Given the description of an element on the screen output the (x, y) to click on. 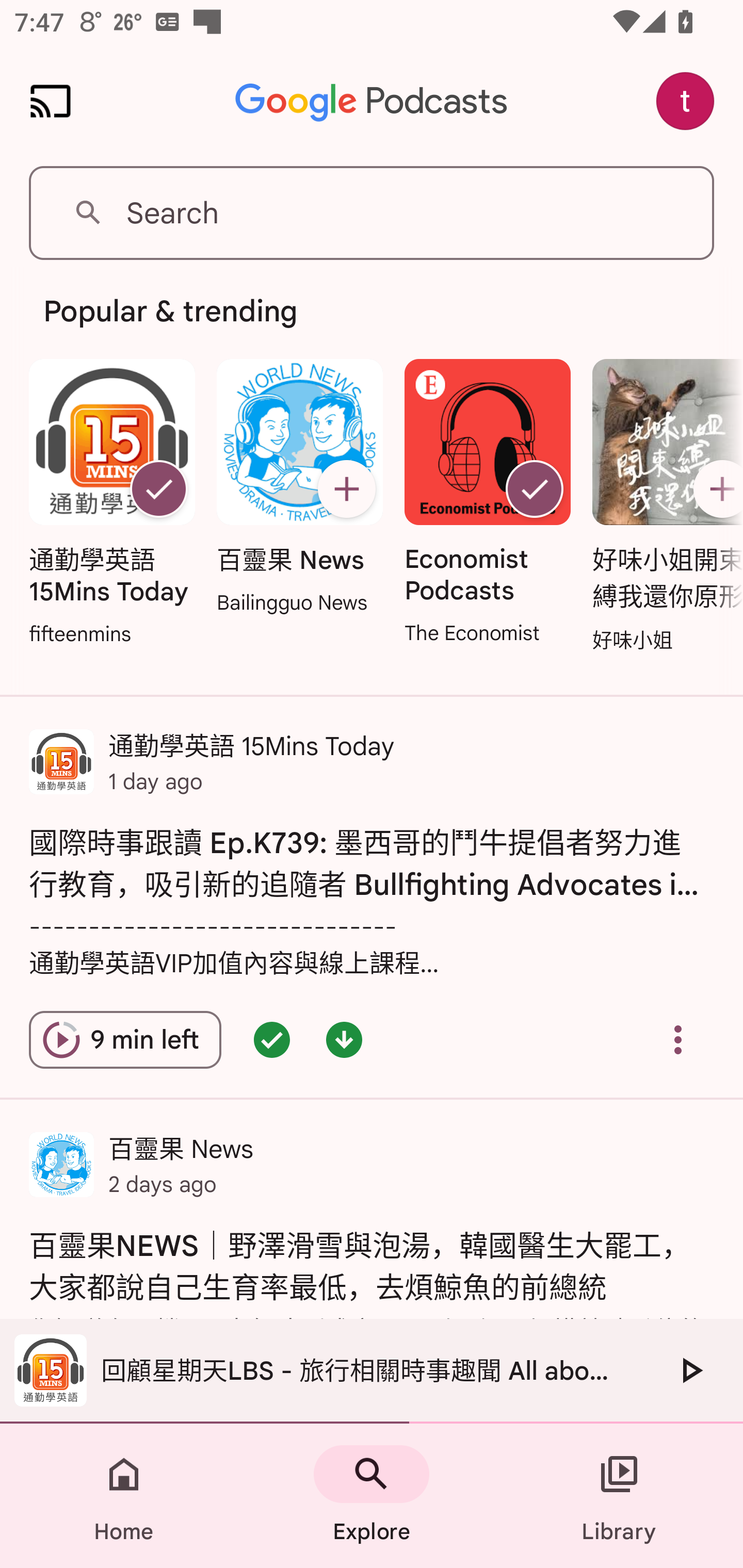
Cast. Disconnected (50, 101)
Search (371, 212)
百靈果 News Subscribe 百靈果 News Bailingguo News (299, 488)
好味小姐開束縛我還你原形 Subscribe 好味小姐開束縛我還你原形 好味小姐 (662, 507)
Unsubscribe (158, 489)
Subscribe (346, 489)
Unsubscribe (534, 489)
Subscribe (714, 489)
Episode queued - double tap for options (271, 1040)
Episode downloaded - double tap for options (344, 1040)
Overflow menu (677, 1040)
Play (690, 1370)
Home (123, 1495)
Library (619, 1495)
